Given the description of an element on the screen output the (x, y) to click on. 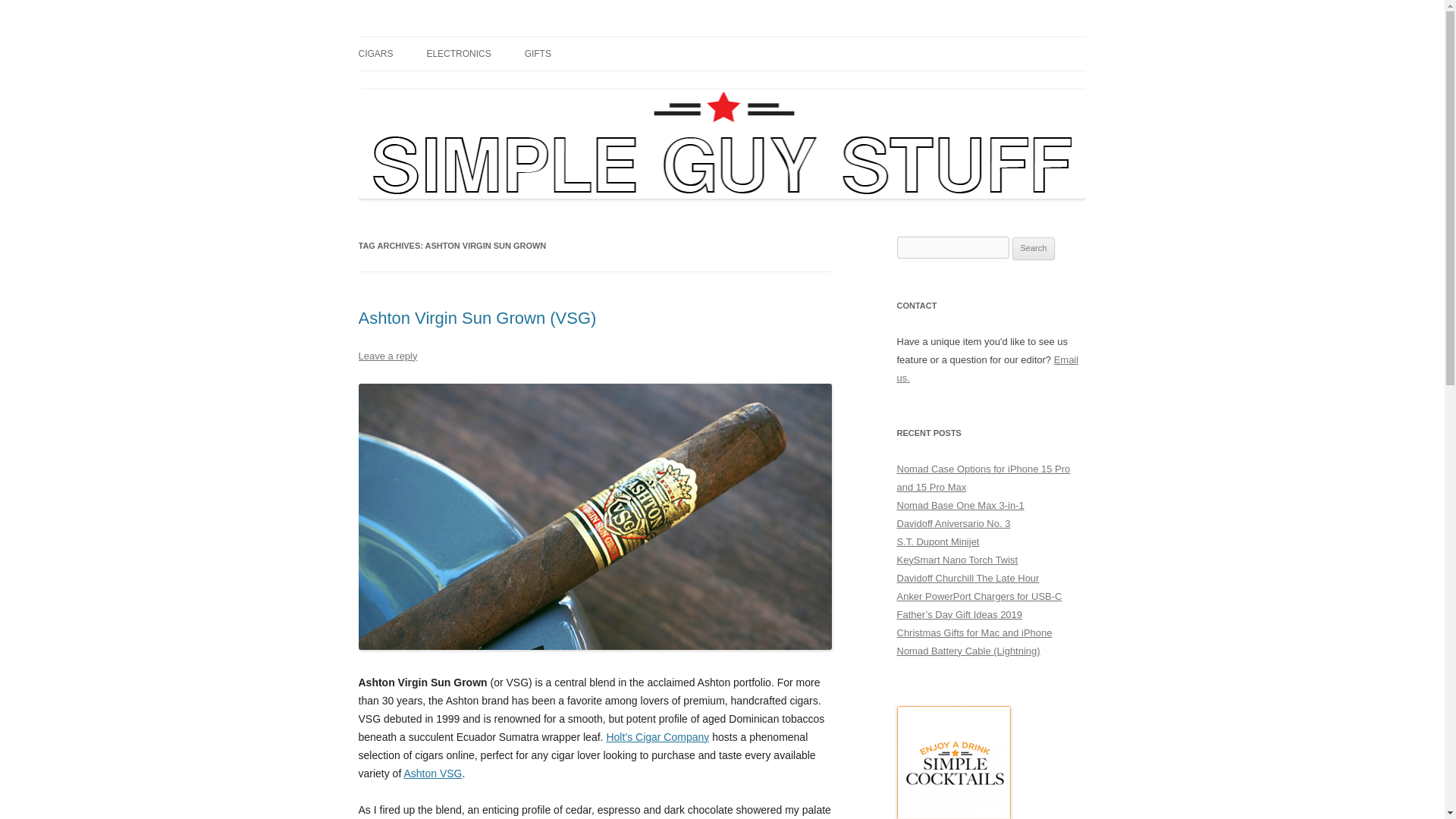
Ashton VSG (432, 773)
Search (1033, 248)
Nomad Base One Max 3-in-1 (959, 505)
Simple Guy Stuff (437, 36)
Leave a reply (387, 355)
S.T. Dupont Minijet (937, 541)
KeySmart Nano Torch Twist (956, 559)
Christmas Gifts for Mac and iPhone (973, 632)
Email us. (987, 368)
Davidoff Churchill The Late Hour (967, 577)
Anker PowerPort Chargers for USB-C (978, 595)
ELECTRONICS (458, 53)
Nomad Case Options for iPhone 15 Pro and 15 Pro Max (983, 478)
CIGARS (375, 53)
Davidoff Aniversario No. 3 (953, 523)
